Given the description of an element on the screen output the (x, y) to click on. 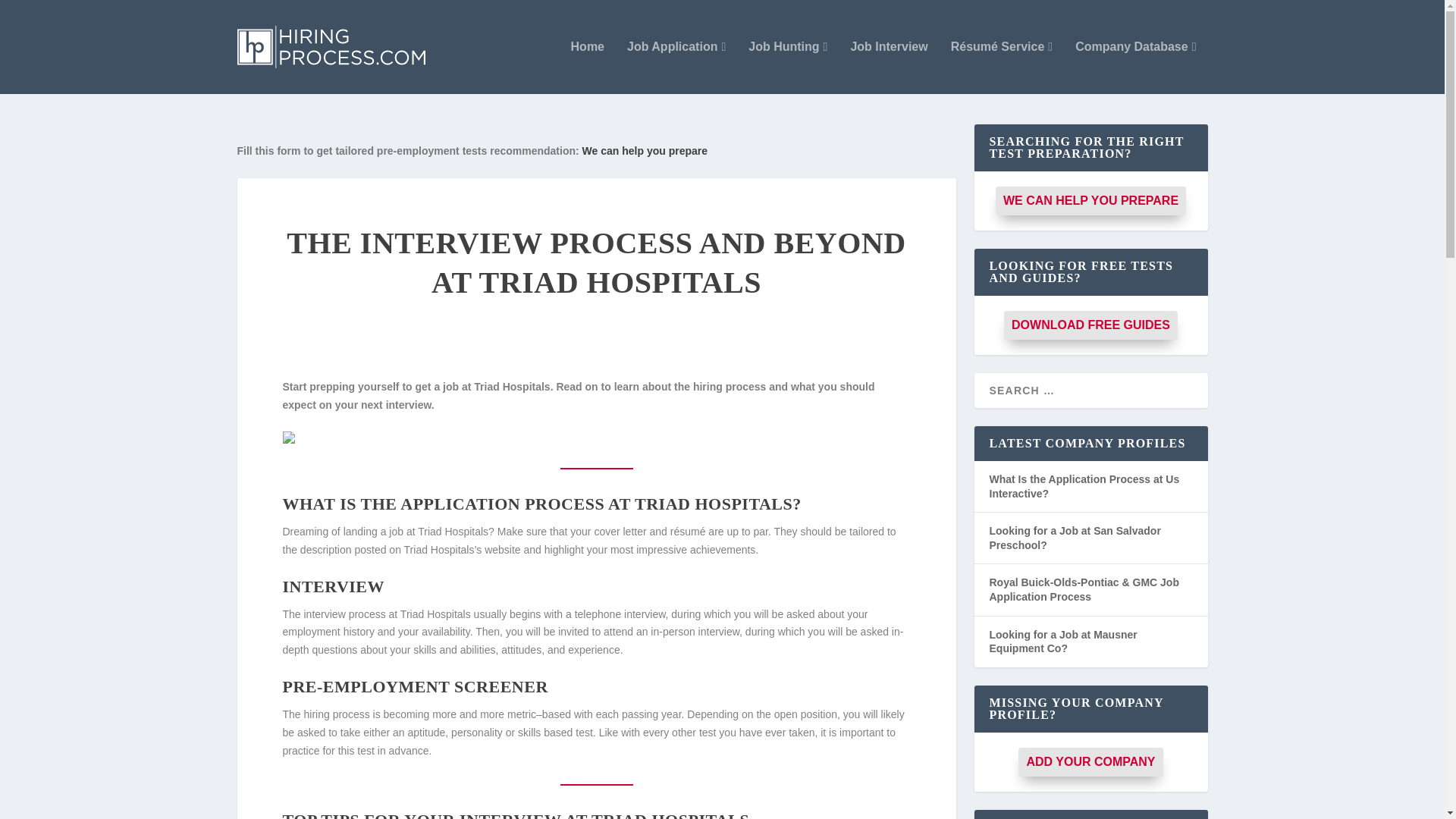
WE CAN HELP YOU PREPARE (1090, 200)
Job Interview (888, 67)
Company Database (1135, 67)
DOWNLOAD FREE GUIDES (1090, 325)
Search (34, 14)
Job Hunting (787, 67)
WE CAN HELP YOU PREPARE (1090, 200)
Job Application (676, 67)
We can help you prepare (644, 150)
DOWNLOAD FREE GUIDES (1090, 325)
